Given the description of an element on the screen output the (x, y) to click on. 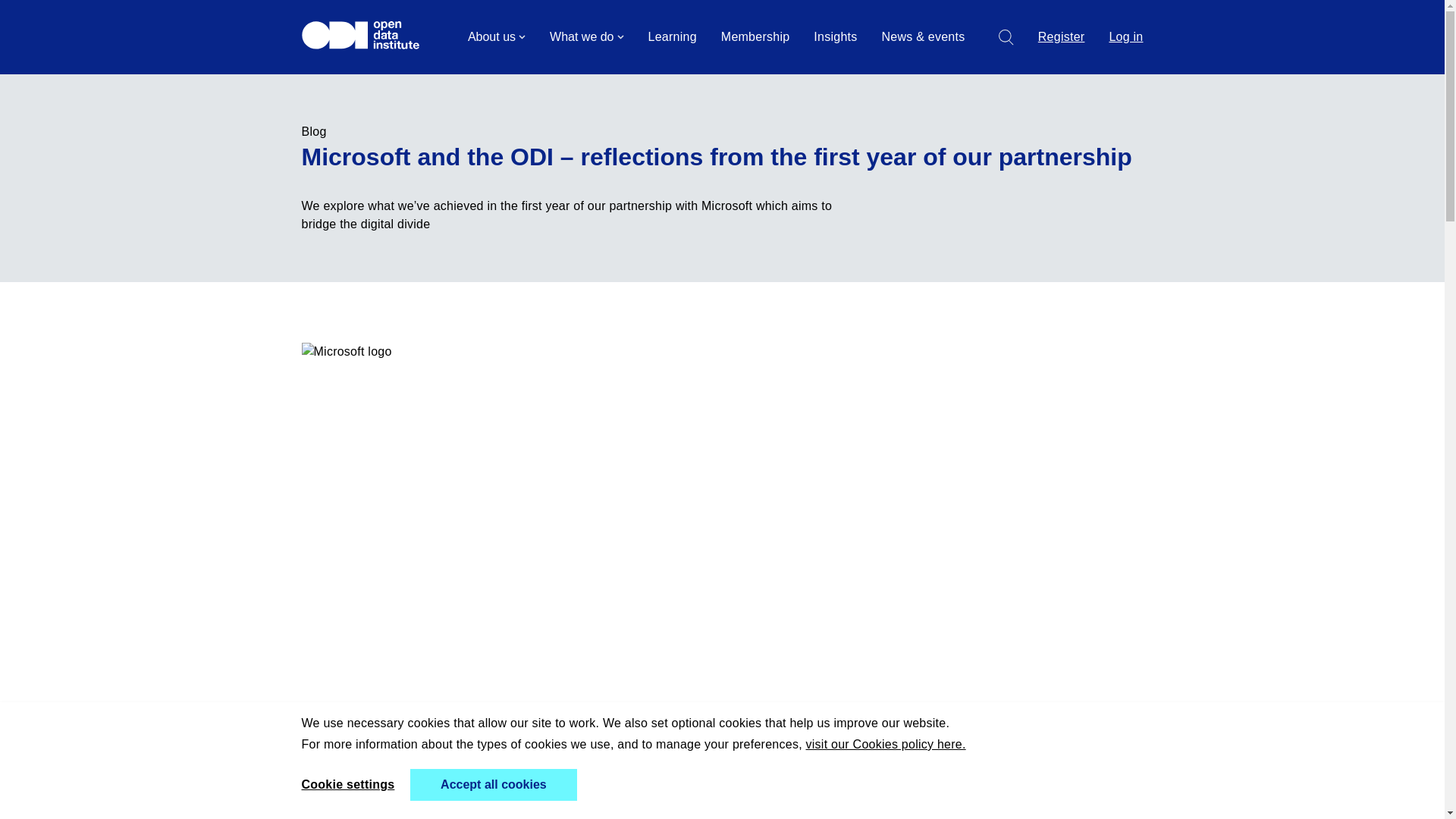
visit our Cookies policy here. (886, 744)
What we do (586, 36)
Register (1061, 36)
Membership (755, 36)
Cookie settings (347, 784)
About us (496, 36)
Learning (672, 36)
Accept all cookies (493, 784)
Insights (835, 36)
